Given the description of an element on the screen output the (x, y) to click on. 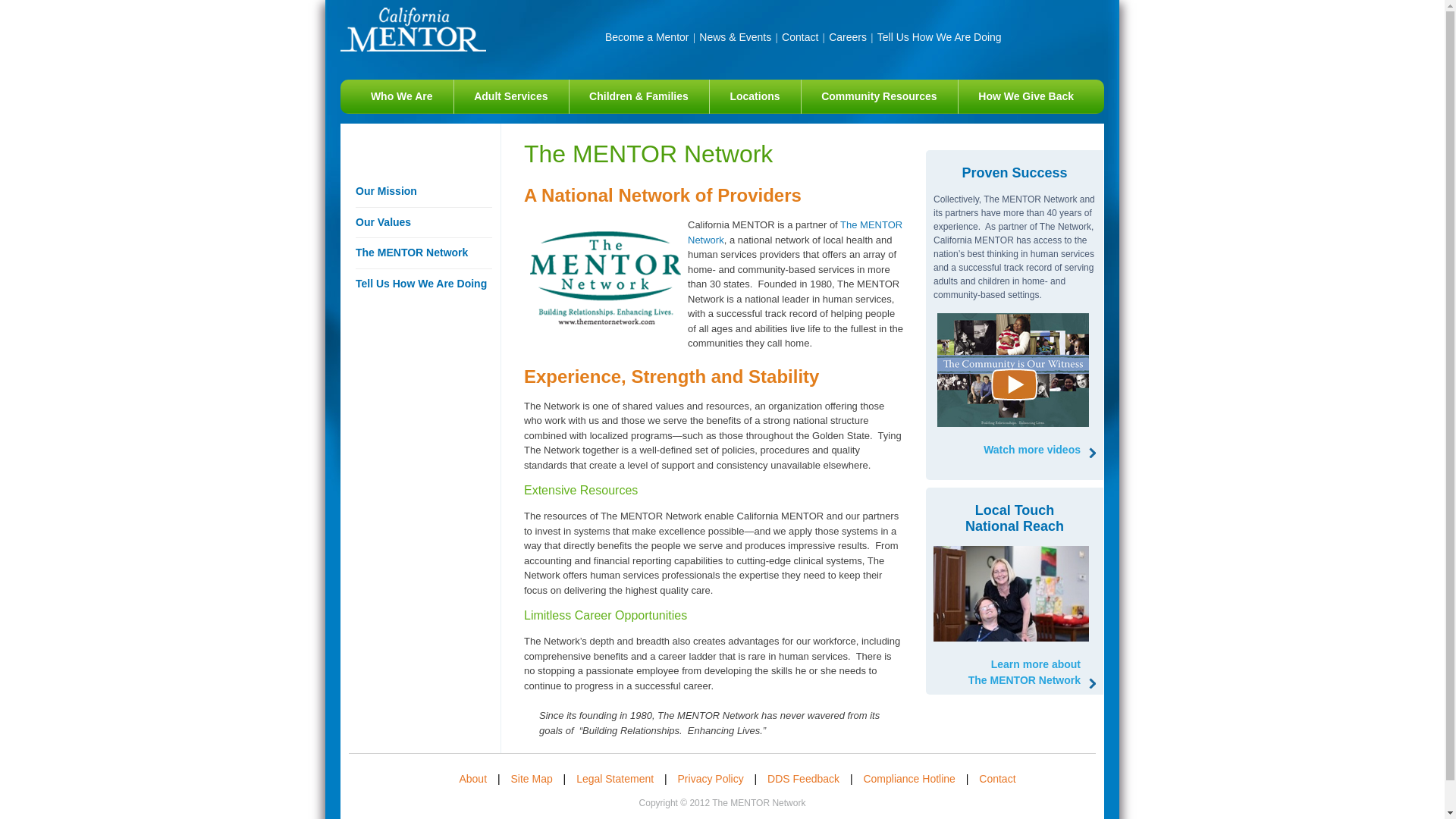
Who We Are (401, 96)
The MENTOR Network (794, 232)
Careers (1025, 672)
The MENTOR Network (847, 37)
Locations (423, 253)
Community Resources (754, 96)
Our Mission (879, 96)
Contact (423, 191)
Become a Mentor (799, 37)
How We Give Back (646, 37)
Tell Us How We Are Doing (1026, 96)
Adult Services (939, 37)
Our Values (510, 96)
Tell Us How We Are Doing (423, 222)
